Given the description of an element on the screen output the (x, y) to click on. 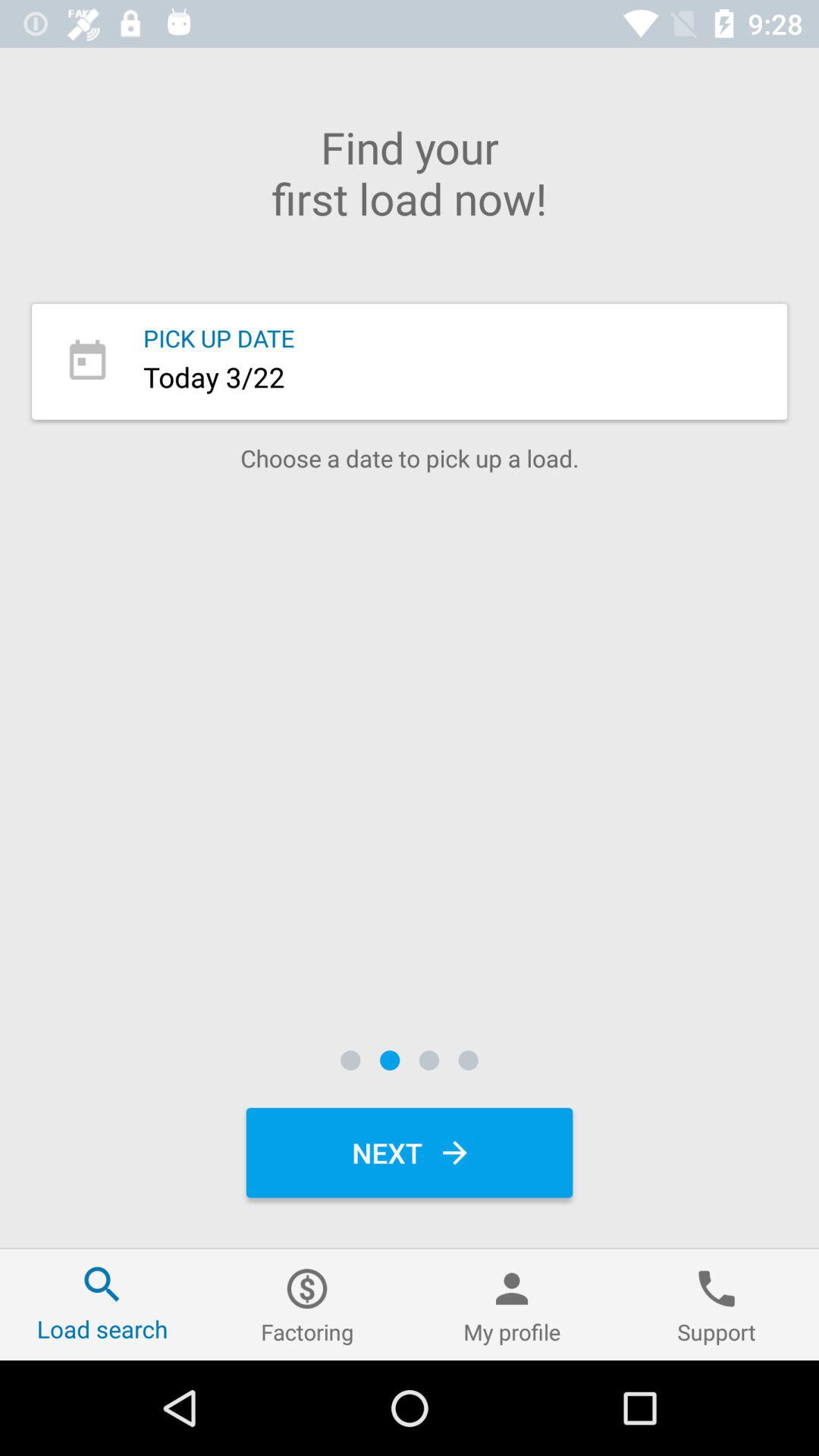
swipe to the factoring item (306, 1304)
